Given the description of an element on the screen output the (x, y) to click on. 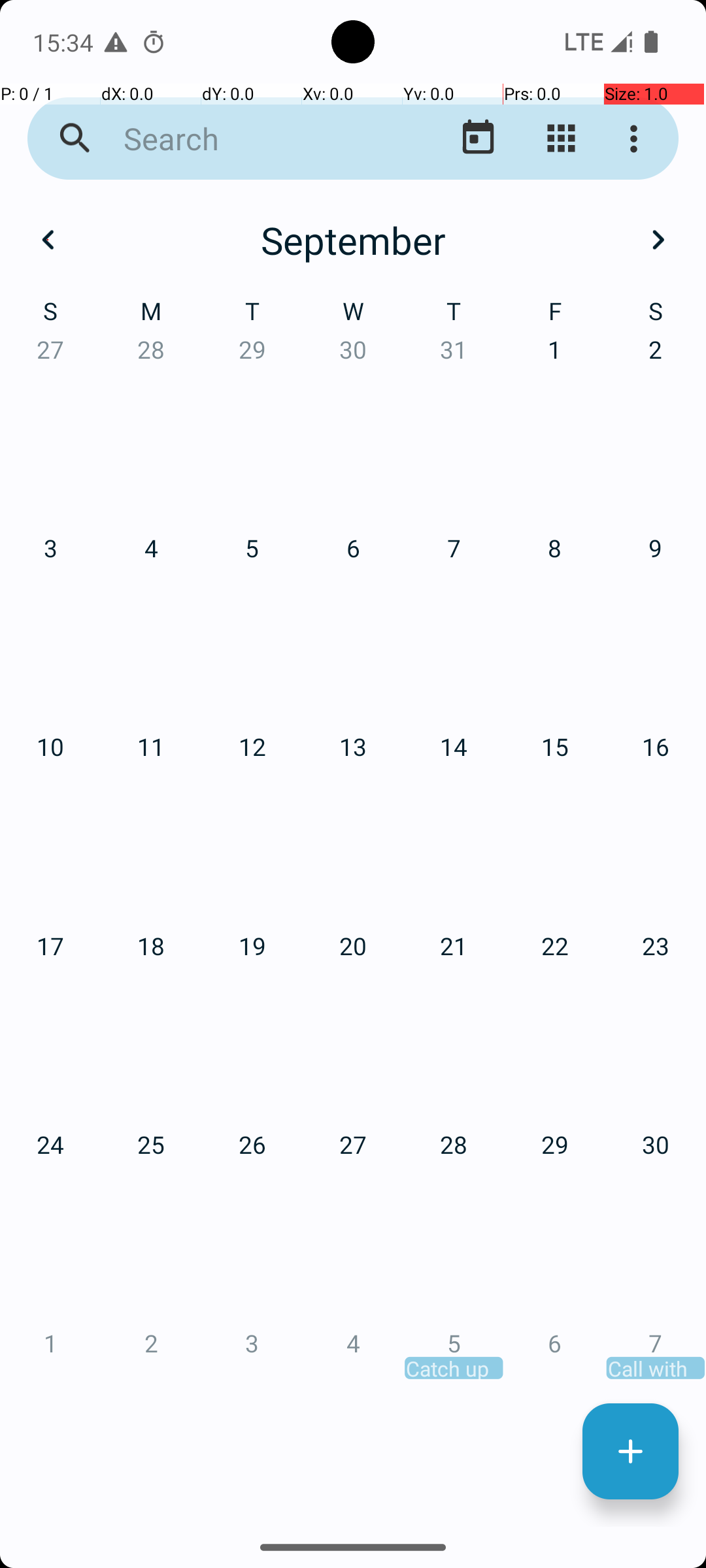
Go to today Element type: android.widget.Button (477, 138)
September Element type: android.widget.TextView (352, 239)
